Given the description of an element on the screen output the (x, y) to click on. 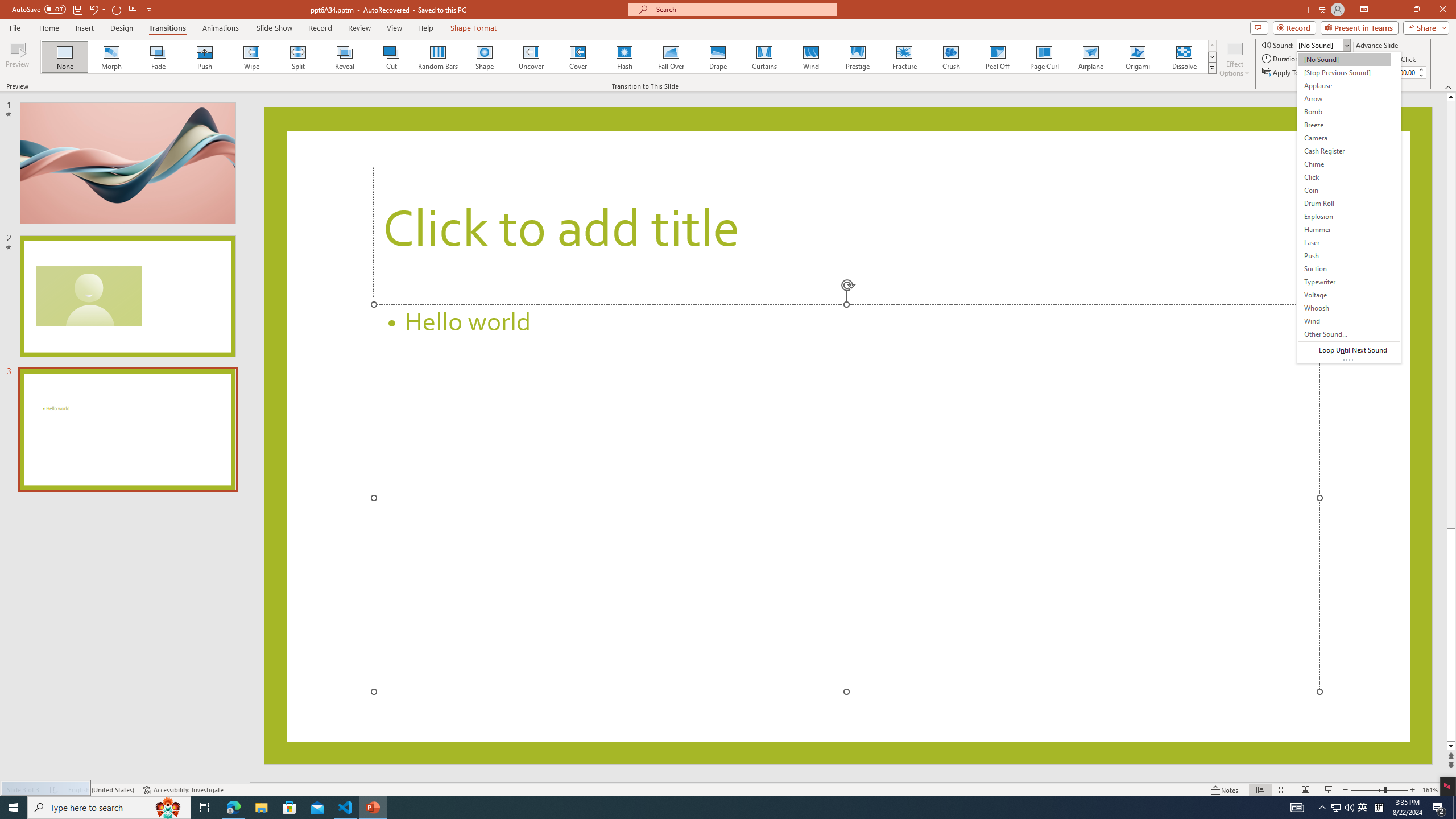
Zoom 161% (1430, 790)
Transition Effects (1212, 67)
Sound: (1348, 207)
